Given the description of an element on the screen output the (x, y) to click on. 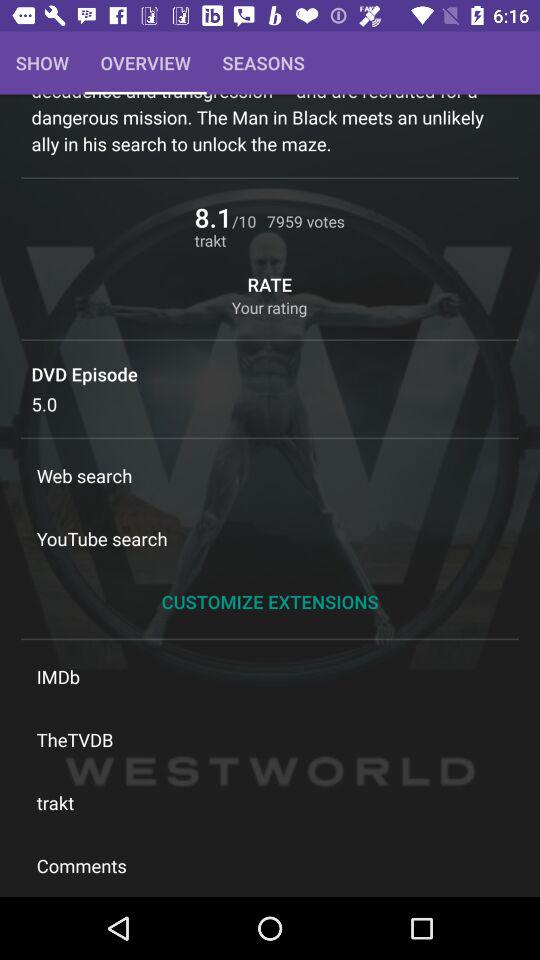
select customize extensions item (270, 601)
